Given the description of an element on the screen output the (x, y) to click on. 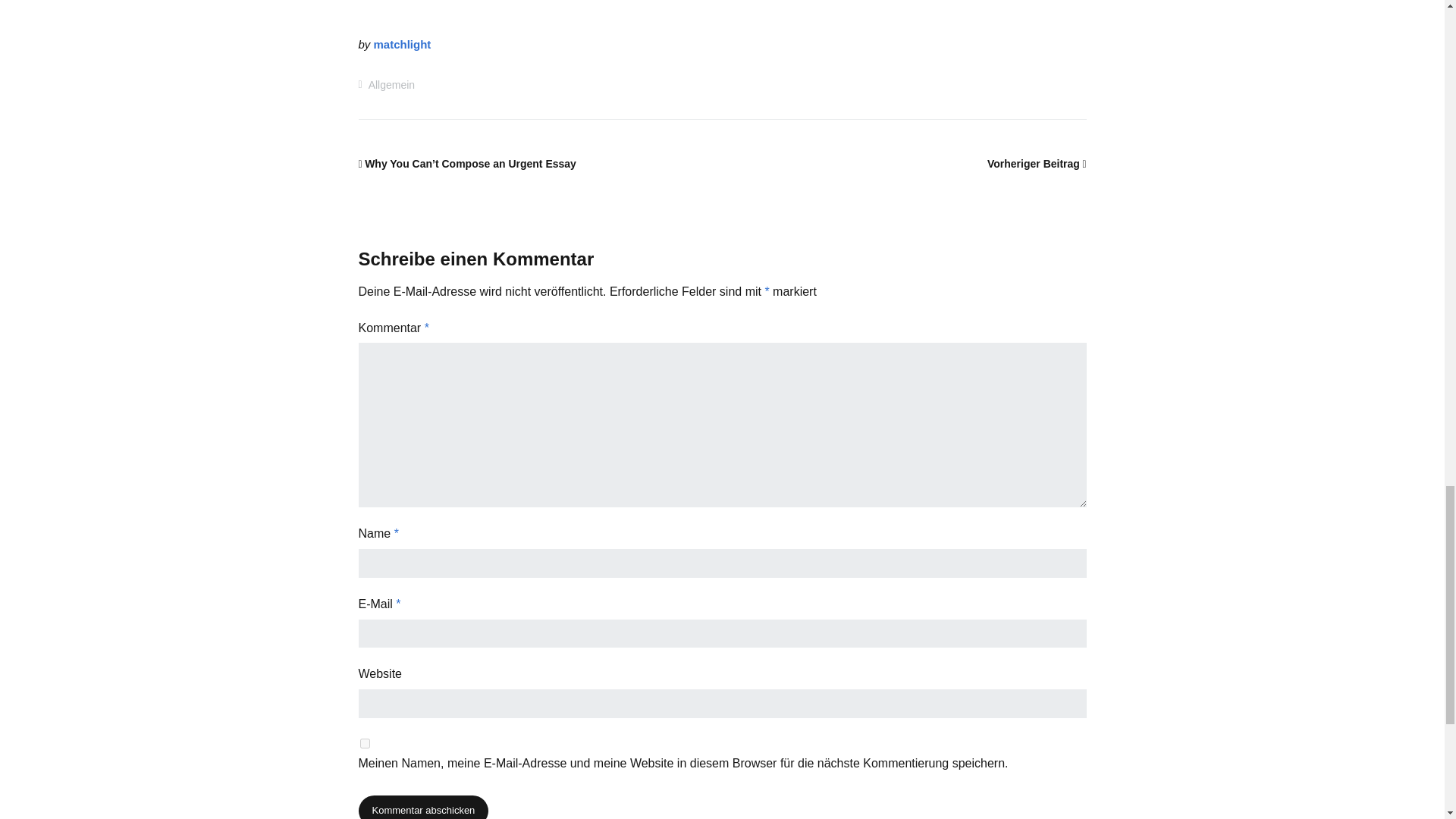
Kommentar abschicken (422, 807)
matchlight (402, 43)
Allgemein (391, 84)
yes (364, 743)
Vorheriger Beitrag (1036, 163)
Kommentar abschicken (422, 807)
